Given the description of an element on the screen output the (x, y) to click on. 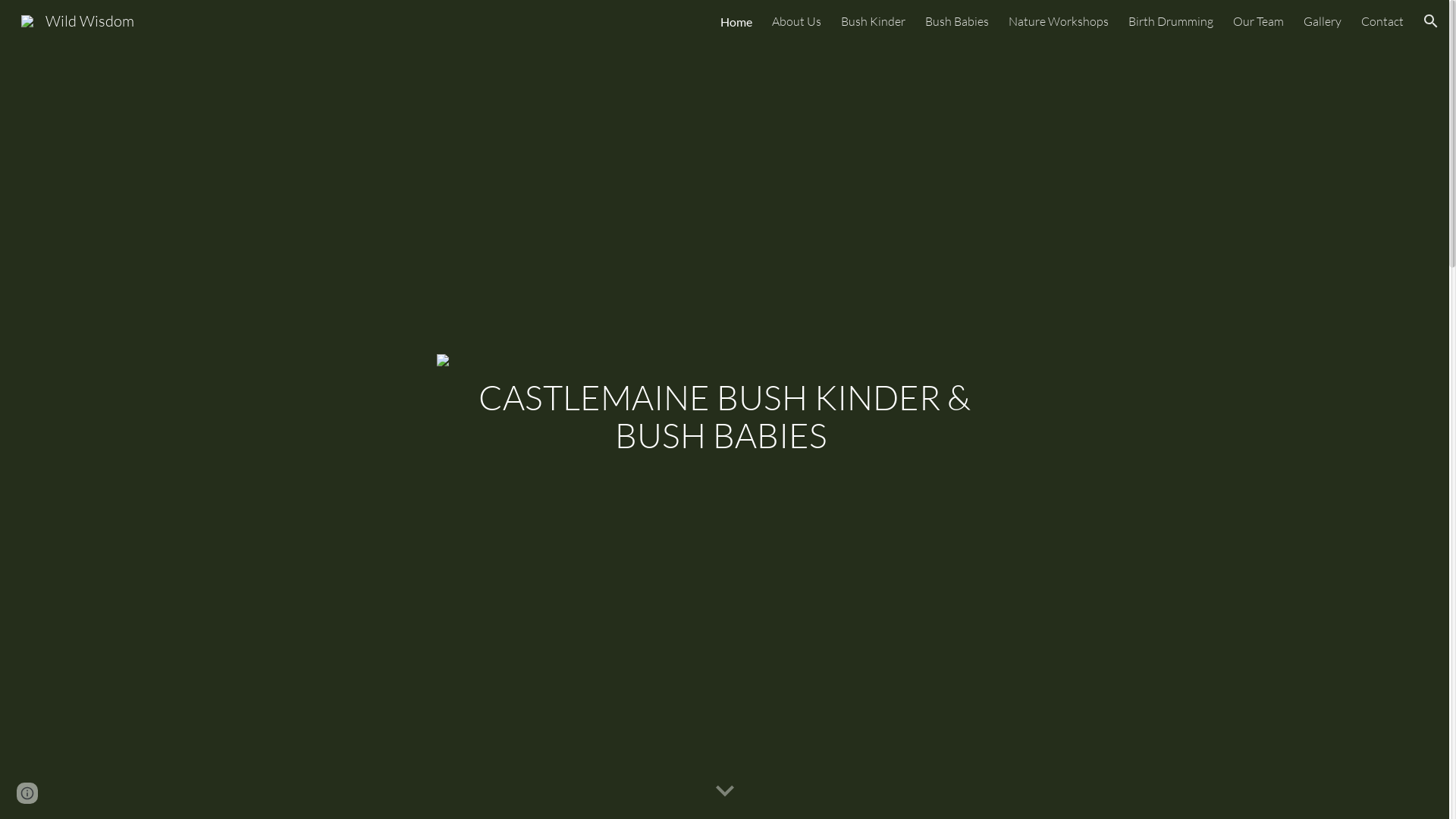
Our Team Element type: text (1258, 20)
Contact Element type: text (1382, 20)
Gallery Element type: text (1322, 20)
Wild Wisdom Element type: text (77, 18)
Bush Kinder Element type: text (872, 20)
Nature Workshops Element type: text (1058, 20)
Birth Drumming Element type: text (1170, 20)
About Us Element type: text (796, 20)
Home Element type: text (736, 20)
Bush Babies Element type: text (956, 20)
